Given the description of an element on the screen output the (x, y) to click on. 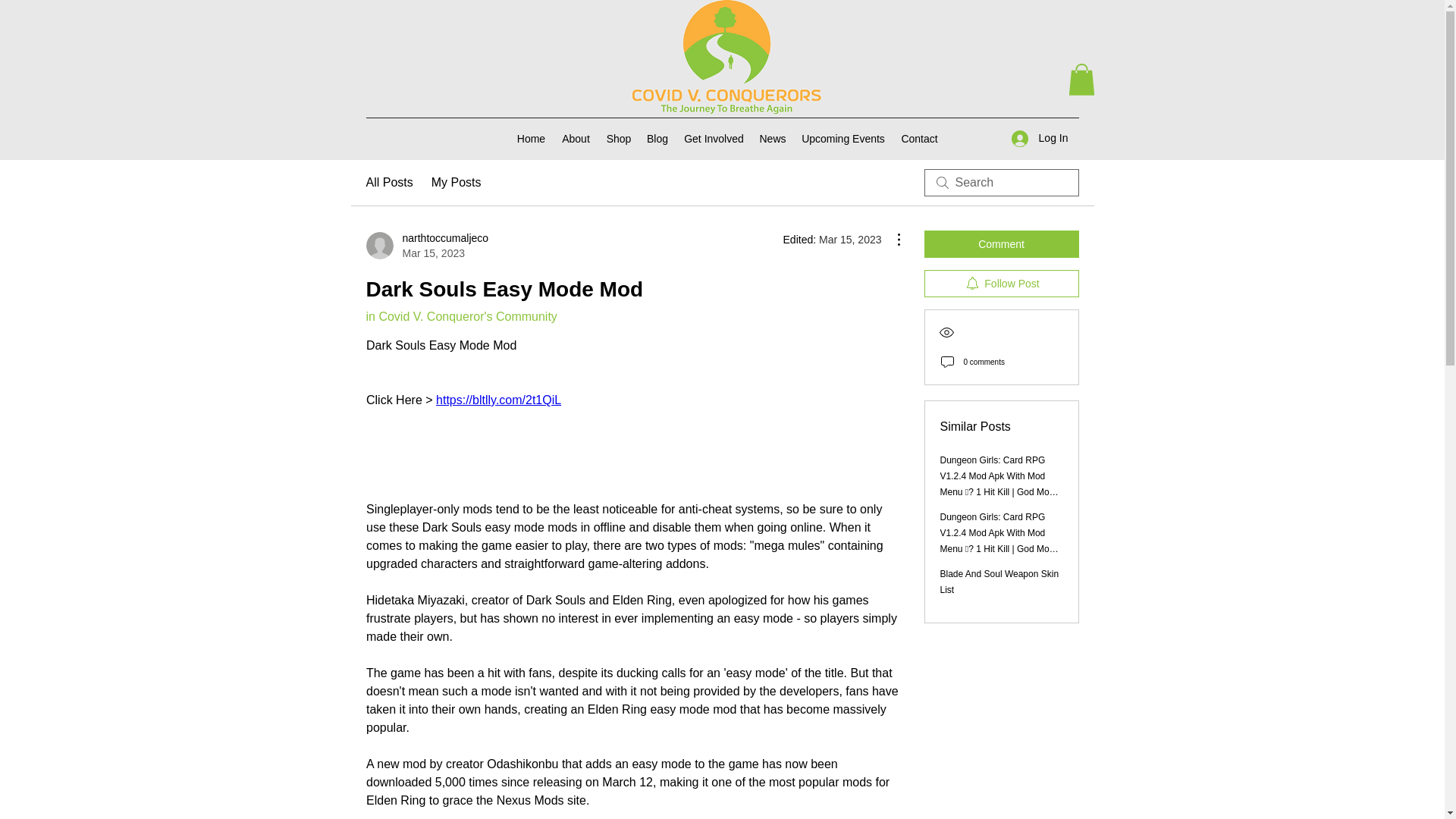
About (575, 138)
My Posts (455, 182)
Log In (426, 245)
All Posts (1039, 138)
Blog (388, 182)
Shop (657, 138)
Contact (618, 138)
in Covid V. Conqueror's Community (919, 138)
Home (460, 316)
Comment (531, 138)
Follow Post (1000, 243)
Get Involved (1000, 283)
News (714, 138)
Upcoming Events (772, 138)
